Given the description of an element on the screen output the (x, y) to click on. 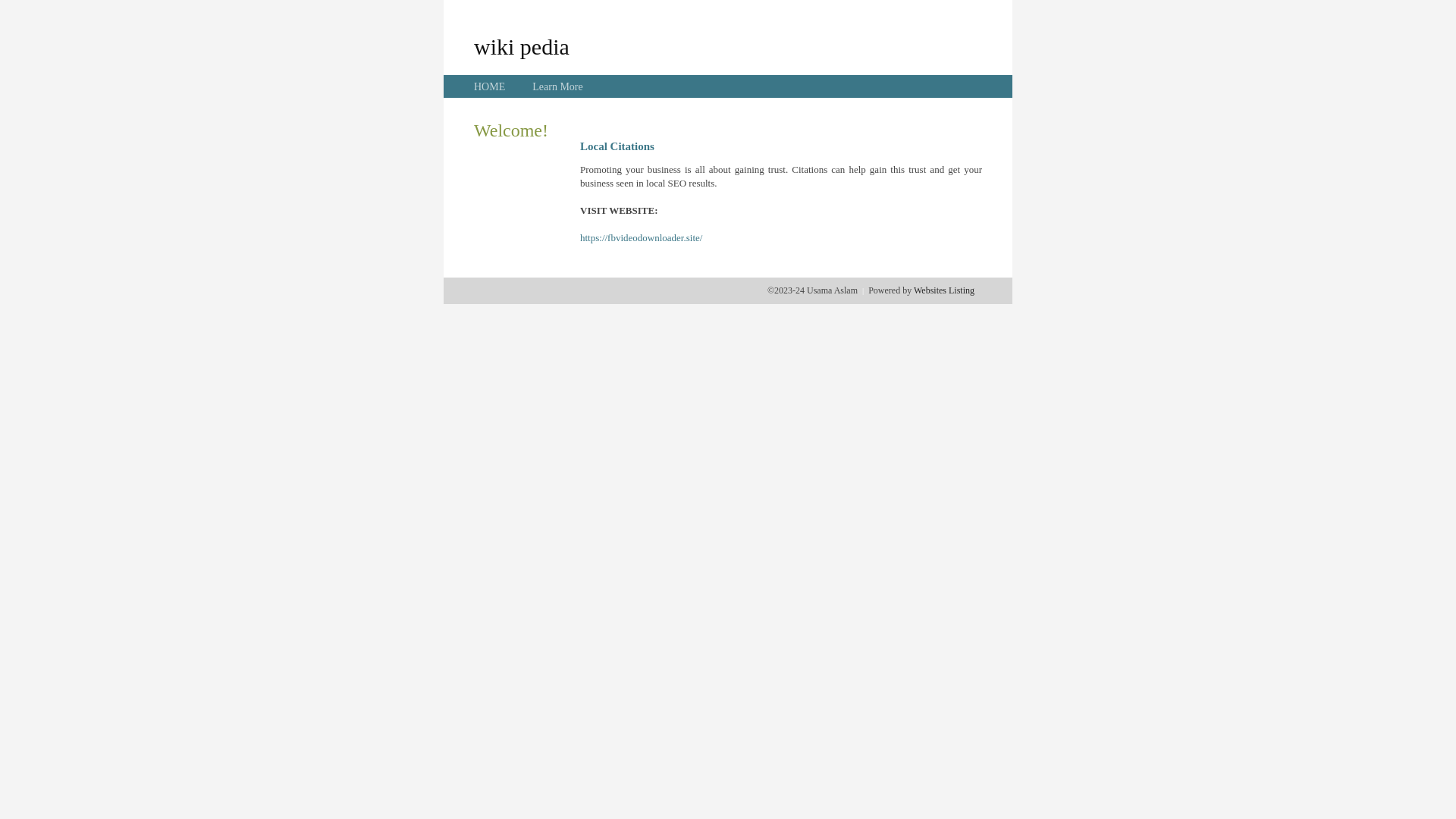
Websites Listing Element type: text (943, 290)
Learn More Element type: text (557, 86)
HOME Element type: text (489, 86)
https://fbvideodownloader.site/ Element type: text (641, 237)
wiki pedia Element type: text (521, 46)
